Given the description of an element on the screen output the (x, y) to click on. 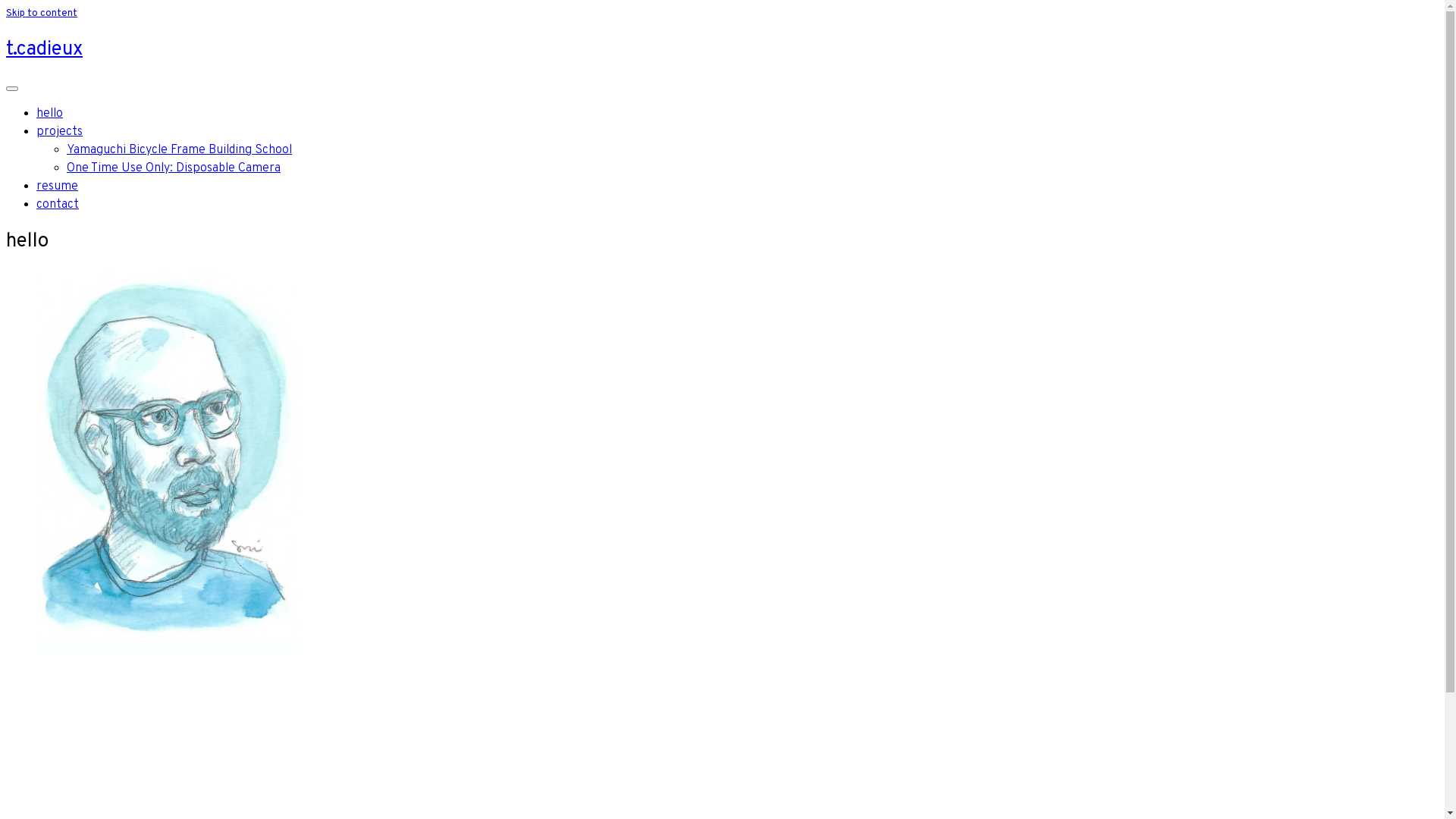
resume Element type: text (57, 186)
t.cadieux Element type: text (44, 49)
contact Element type: text (57, 204)
Skip to content Element type: text (41, 13)
projects Element type: text (59, 131)
One Time Use Only: Disposable Camera Element type: text (173, 167)
hello Element type: text (49, 113)
Yamaguchi Bicycle Frame Building School Element type: text (178, 149)
